Given the description of an element on the screen output the (x, y) to click on. 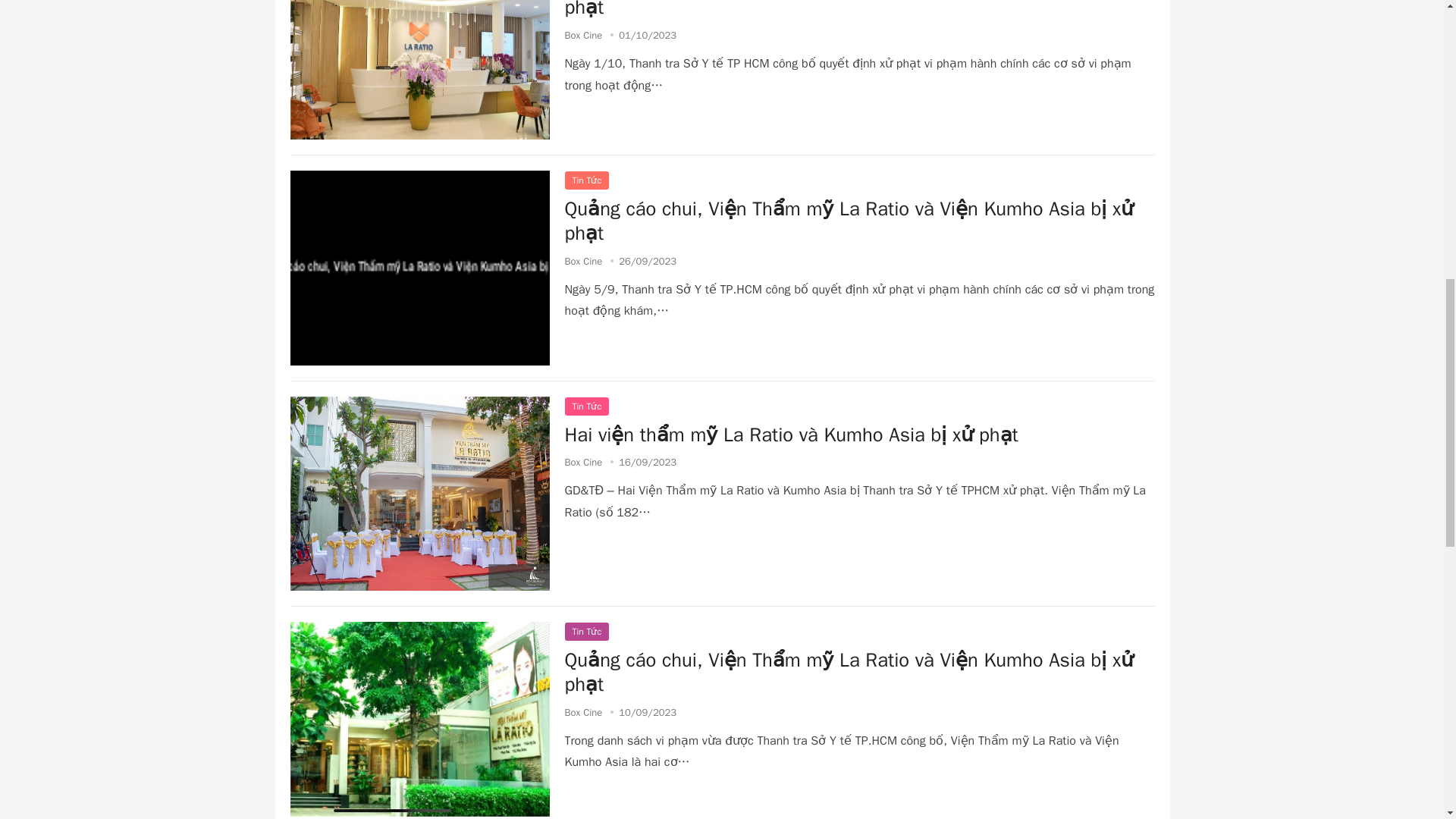
Box Cine (583, 260)
Box Cine (583, 712)
Box Cine (583, 34)
Box Cine (583, 461)
